Given the description of an element on the screen output the (x, y) to click on. 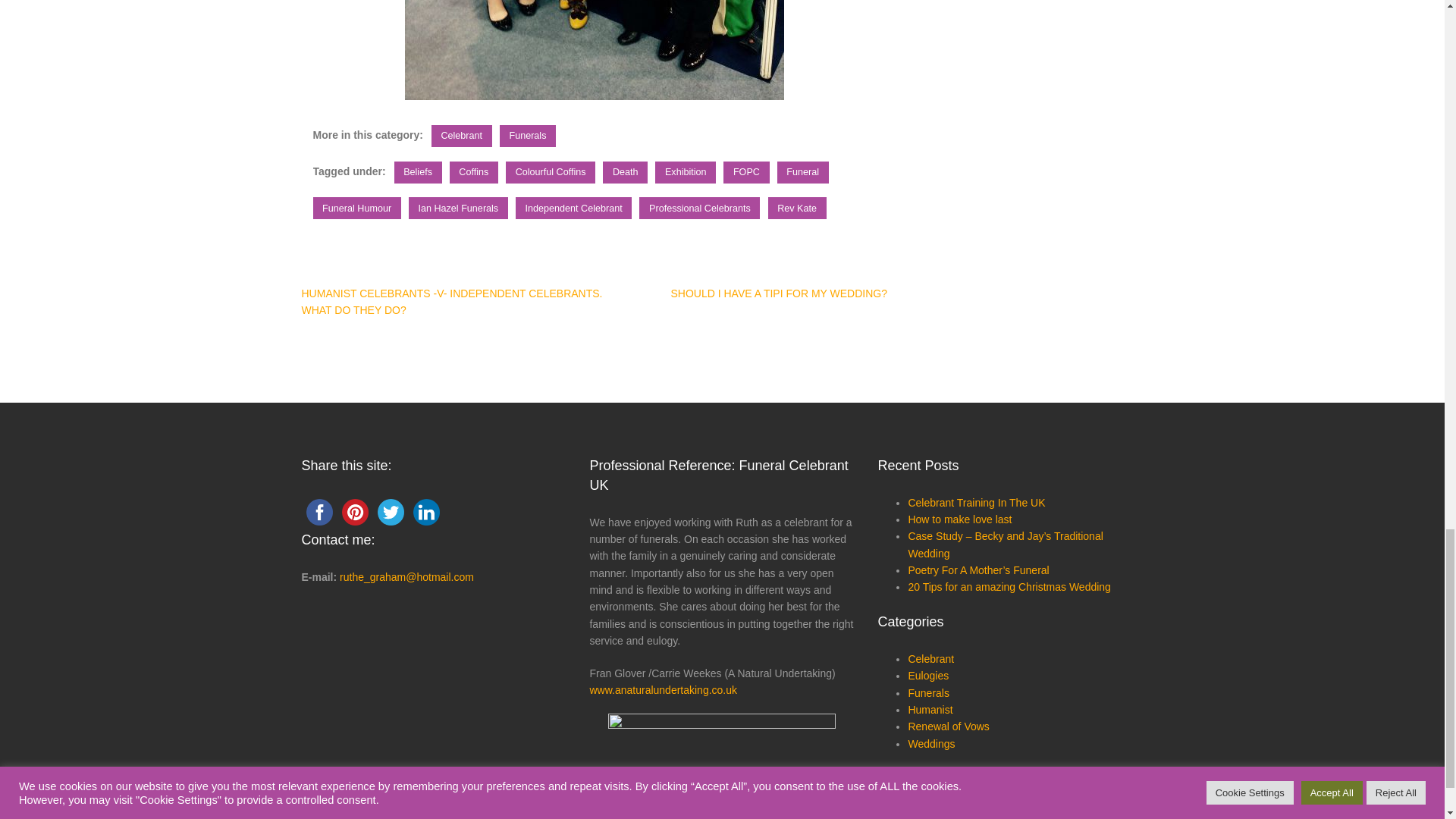
SHOULD I HAVE A TIPI FOR MY WEDDING? (777, 293)
facebook (319, 511)
pinterest (354, 511)
Coffins (473, 172)
Celebrant (461, 136)
Professional Celebrants (699, 208)
Funeral Humour (356, 208)
FOPC (745, 172)
Funeral (802, 172)
